Given the description of an element on the screen output the (x, y) to click on. 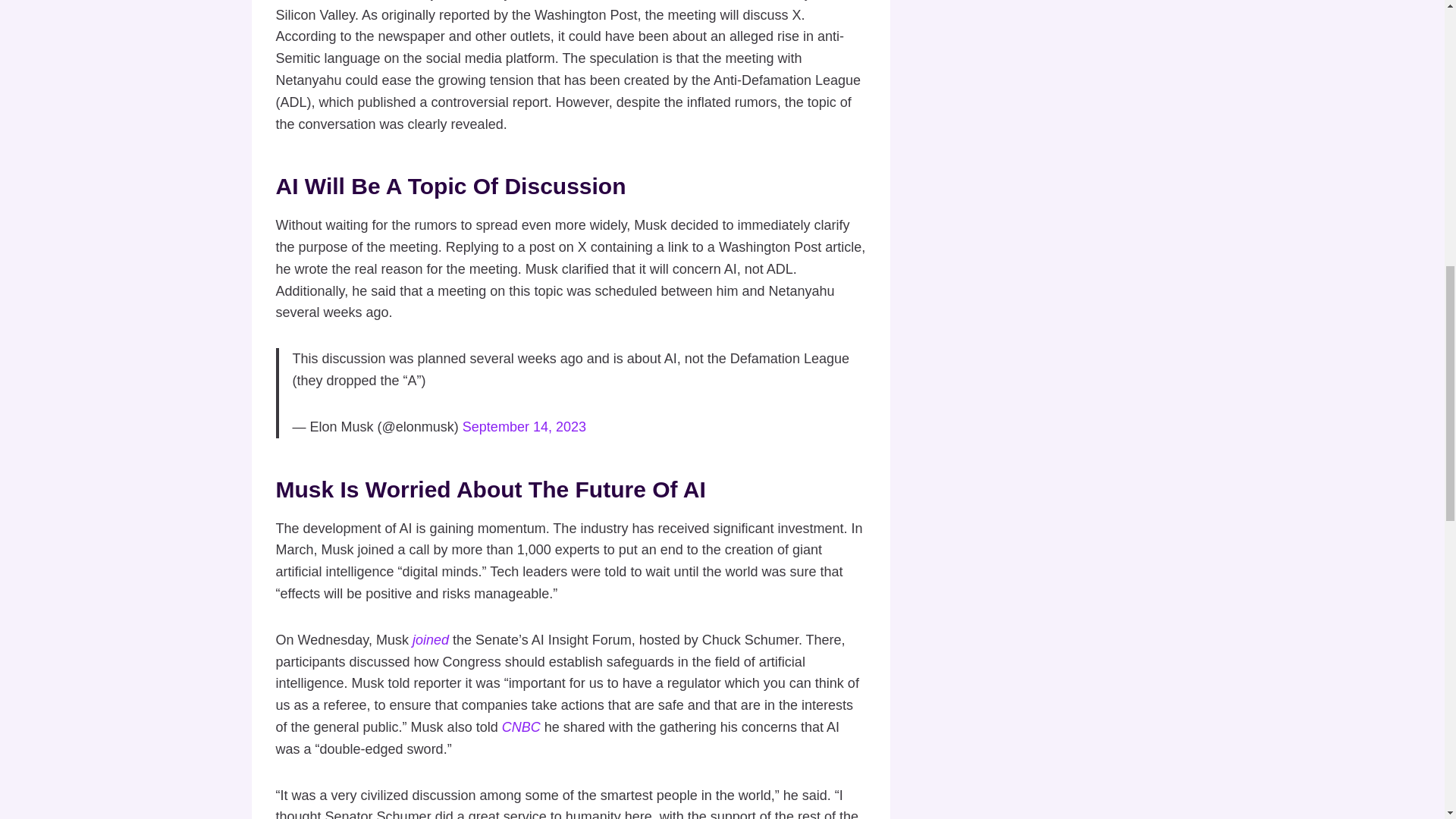
CNBC (521, 726)
September 14, 2023 (524, 426)
joined (430, 639)
